Given the description of an element on the screen output the (x, y) to click on. 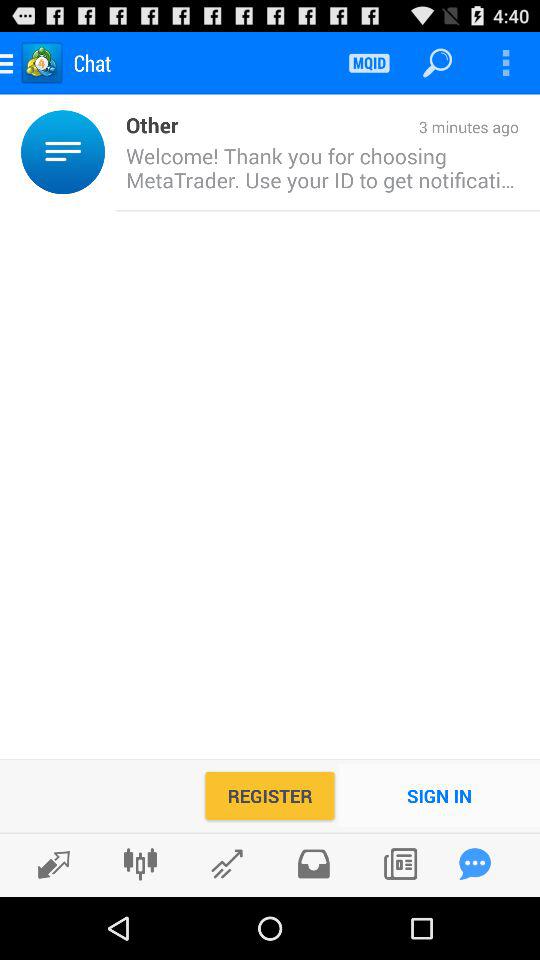
turn on icon to the right of register (439, 795)
